Given the description of an element on the screen output the (x, y) to click on. 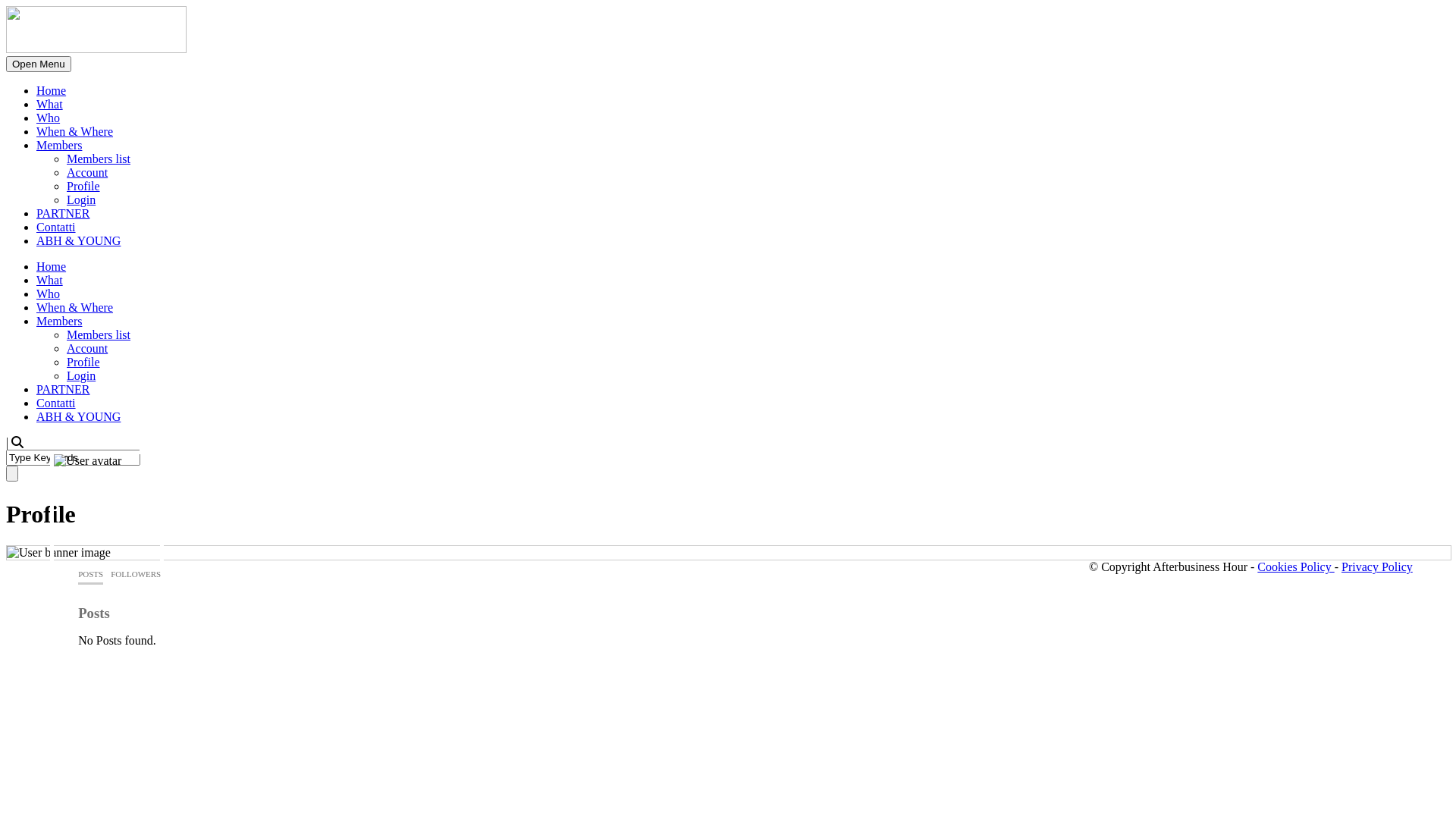
PARTNER Element type: text (62, 213)
Home Element type: text (50, 90)
Privacy Policy Element type: text (1376, 566)
Contatti Element type: text (55, 402)
Login Element type: text (80, 375)
ABH & YOUNG Element type: text (78, 240)
Who Element type: text (47, 117)
Members Element type: text (58, 320)
When & Where Element type: text (74, 131)
Members Element type: text (58, 144)
Login Element type: text (80, 199)
Profile Element type: text (83, 185)
FOLLOWERS Element type: text (135, 574)
ABH & YOUNG Element type: text (78, 416)
Profile Element type: text (83, 361)
Account Element type: text (86, 172)
Members list Element type: text (98, 334)
Cookies Policy Element type: text (1295, 566)
Members list Element type: text (98, 158)
Open Menu Element type: text (38, 64)
When & Where Element type: text (74, 307)
Who Element type: text (47, 293)
Contatti Element type: text (55, 226)
Account Element type: text (86, 348)
Home Element type: text (50, 266)
POSTS Element type: text (90, 574)
What Element type: text (49, 279)
What Element type: text (49, 103)
PARTNER Element type: text (62, 388)
